Given the description of an element on the screen output the (x, y) to click on. 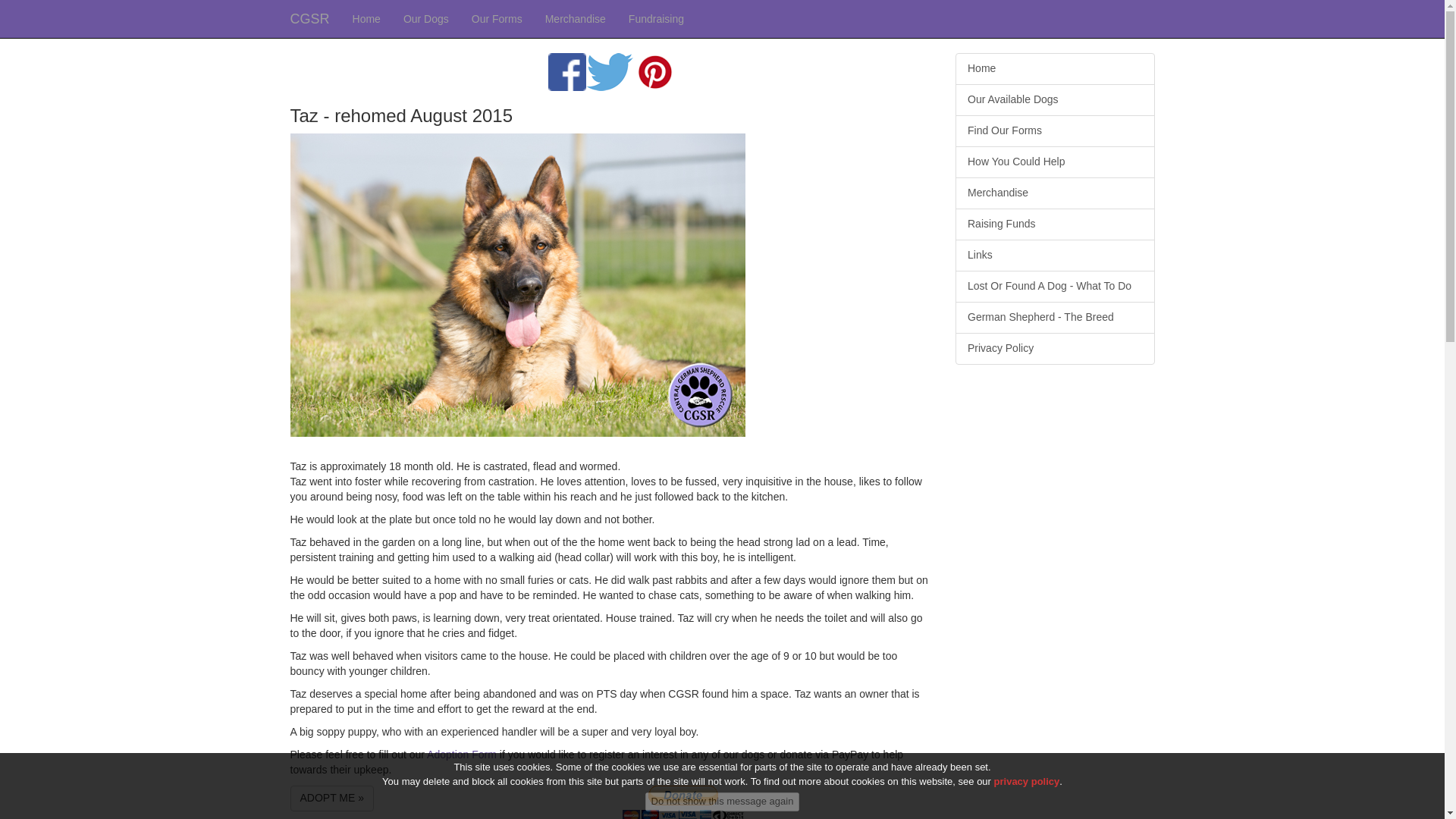
Do not show this message again (722, 801)
Lost Or Found A Dog - What To Do (1054, 286)
Home (1054, 69)
Home (365, 18)
Fundraising (656, 18)
How You Could Help (1054, 162)
Merchandise (575, 18)
Privacy Policy (1054, 348)
German Shepherd - The Breed (1054, 317)
Merchandise (1054, 193)
Find Our Forms (1054, 131)
CGSR (309, 18)
Our Dogs (425, 18)
Our Available Dogs (1054, 100)
Adoption Form (461, 754)
